Given the description of an element on the screen output the (x, y) to click on. 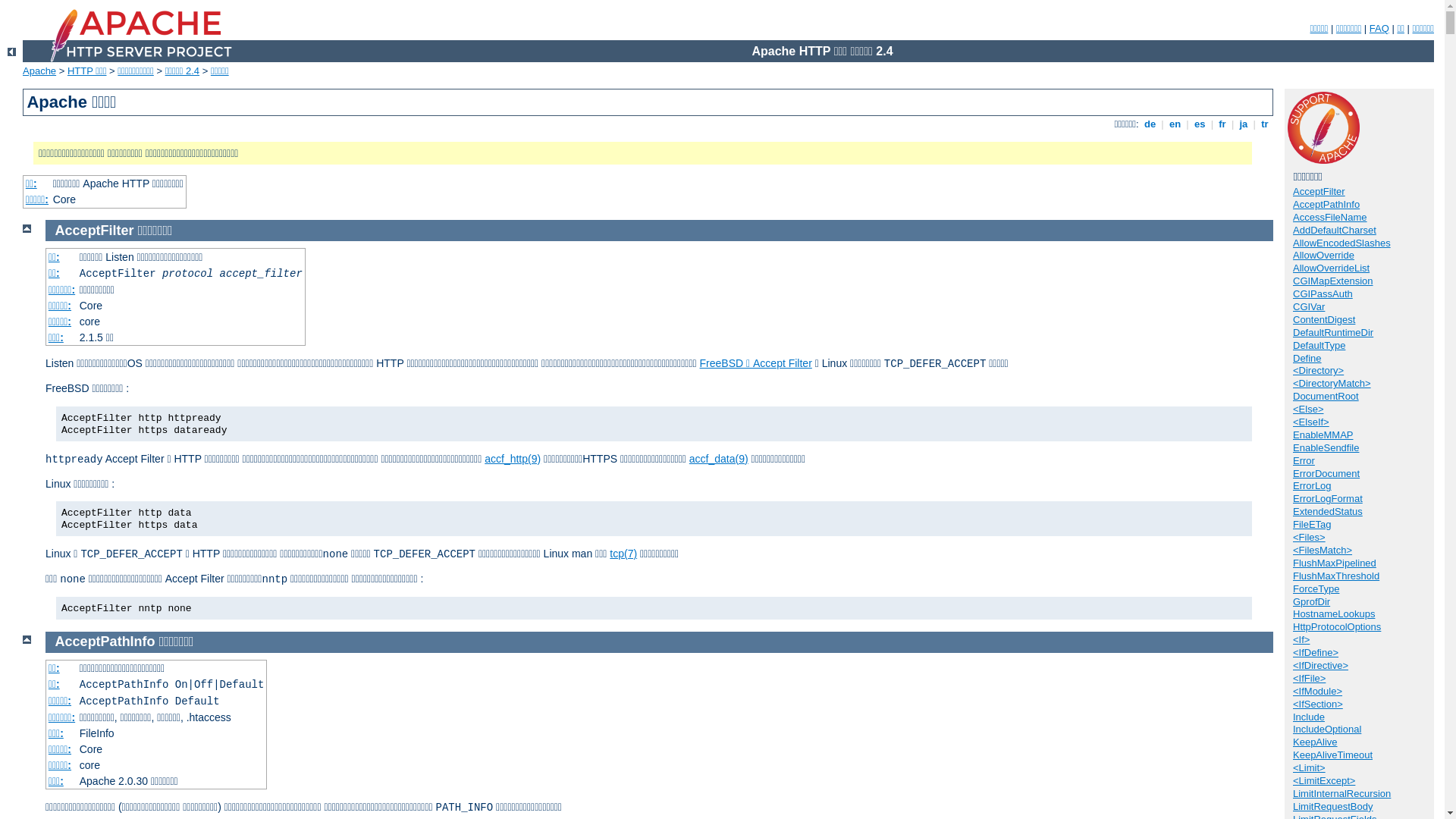
IncludeOptional Element type: text (1326, 728)
LimitInternalRecursion Element type: text (1341, 793)
DocumentRoot Element type: text (1325, 395)
FlushMaxThreshold Element type: text (1335, 575)
 es  Element type: text (1199, 123)
DefaultRuntimeDir Element type: text (1332, 332)
CGIVar Element type: text (1308, 306)
tcp(7) Element type: text (623, 553)
AccessFileName Element type: text (1329, 216)
AcceptFilter Element type: text (1318, 191)
HostnameLookups Element type: text (1333, 613)
<Limit> Element type: text (1308, 767)
 de  Element type: text (1149, 123)
 ja  Element type: text (1243, 123)
DefaultType Element type: text (1318, 345)
 fr  Element type: text (1222, 123)
<FilesMatch> Element type: text (1322, 549)
KeepAliveTimeout Element type: text (1332, 754)
LimitRequestBody Element type: text (1332, 806)
<ElseIf> Element type: text (1310, 421)
accf_data(9) Element type: text (718, 458)
<Else> Element type: text (1307, 408)
EnableMMAP Element type: text (1322, 434)
AllowOverride Element type: text (1323, 254)
<IfDefine> Element type: text (1315, 652)
<- Element type: hover (11, 51)
accf_http(9) Element type: text (512, 458)
GprofDir Element type: text (1311, 601)
<IfFile> Element type: text (1308, 678)
ErrorLogFormat Element type: text (1327, 498)
 en  Element type: text (1174, 123)
<Directory> Element type: text (1317, 370)
 tr  Element type: text (1264, 123)
AcceptFilter Element type: text (94, 230)
CGIPassAuth Element type: text (1322, 293)
AllowOverrideList Element type: text (1330, 267)
<DirectoryMatch> Element type: text (1331, 383)
<Files> Element type: text (1308, 536)
ForceType Element type: text (1315, 588)
KeepAlive Element type: text (1314, 741)
<IfModule> Element type: text (1317, 690)
<If> Element type: text (1300, 639)
ContentDigest Element type: text (1323, 319)
FlushMaxPipelined Element type: text (1334, 562)
FAQ Element type: text (1379, 28)
Apache Element type: text (39, 70)
<IfSection> Element type: text (1317, 703)
Include Element type: text (1308, 716)
ExtendedStatus Element type: text (1327, 511)
HttpProtocolOptions Element type: text (1336, 626)
ErrorLog Element type: text (1311, 485)
CGIMapExtension Element type: text (1332, 280)
<LimitExcept> Element type: text (1323, 780)
AcceptPathInfo Element type: text (105, 641)
AcceptPathInfo Element type: text (1325, 204)
AllowEncodedSlashes Element type: text (1341, 242)
ErrorDocument Element type: text (1325, 473)
Define Element type: text (1306, 358)
<IfDirective> Element type: text (1320, 665)
FileETag Element type: text (1311, 524)
Error Element type: text (1303, 460)
EnableSendfile Element type: text (1325, 447)
AddDefaultCharset Element type: text (1334, 229)
